Given the description of an element on the screen output the (x, y) to click on. 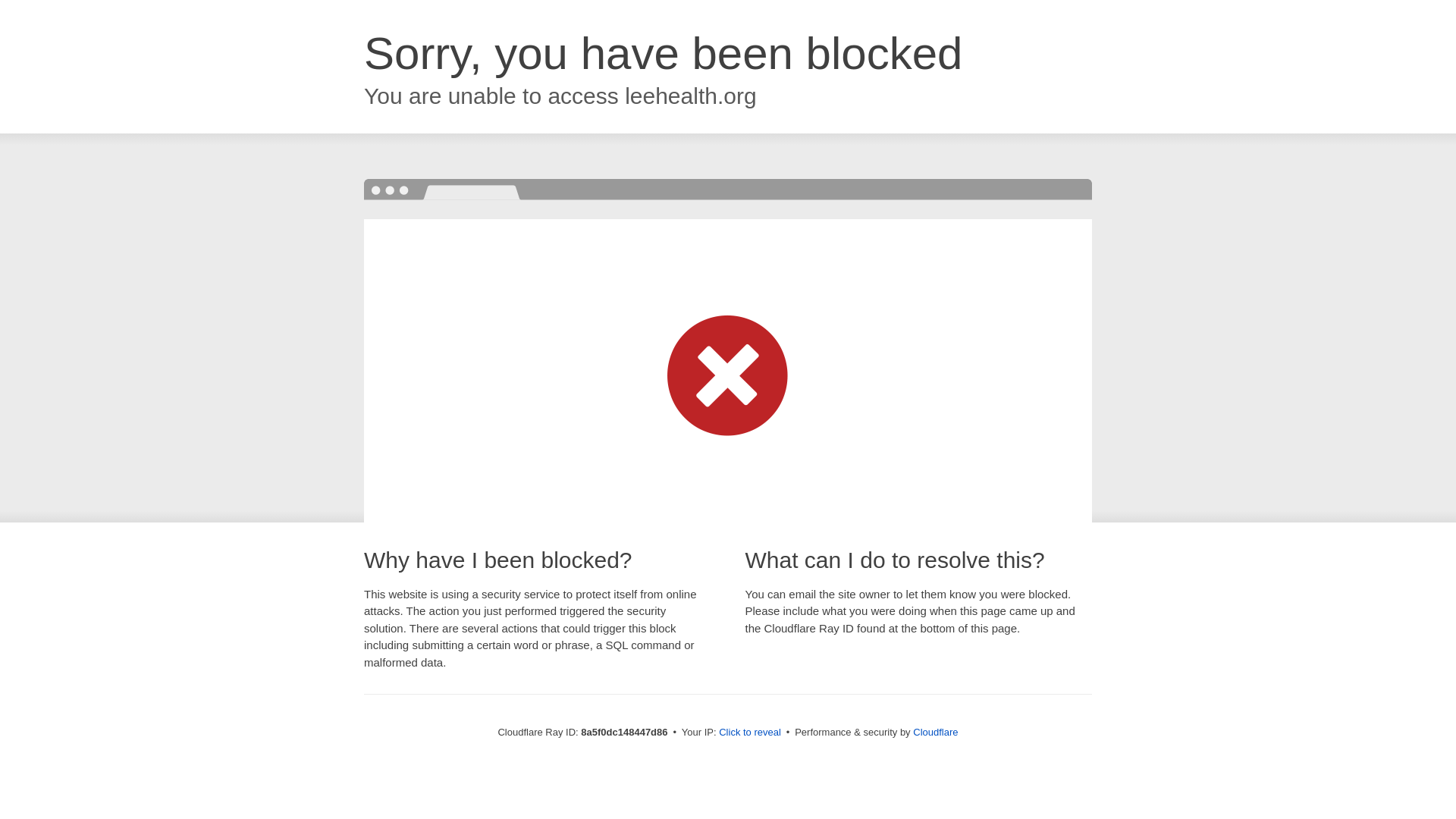
Cloudflare (935, 731)
Click to reveal (749, 732)
